Given the description of an element on the screen output the (x, y) to click on. 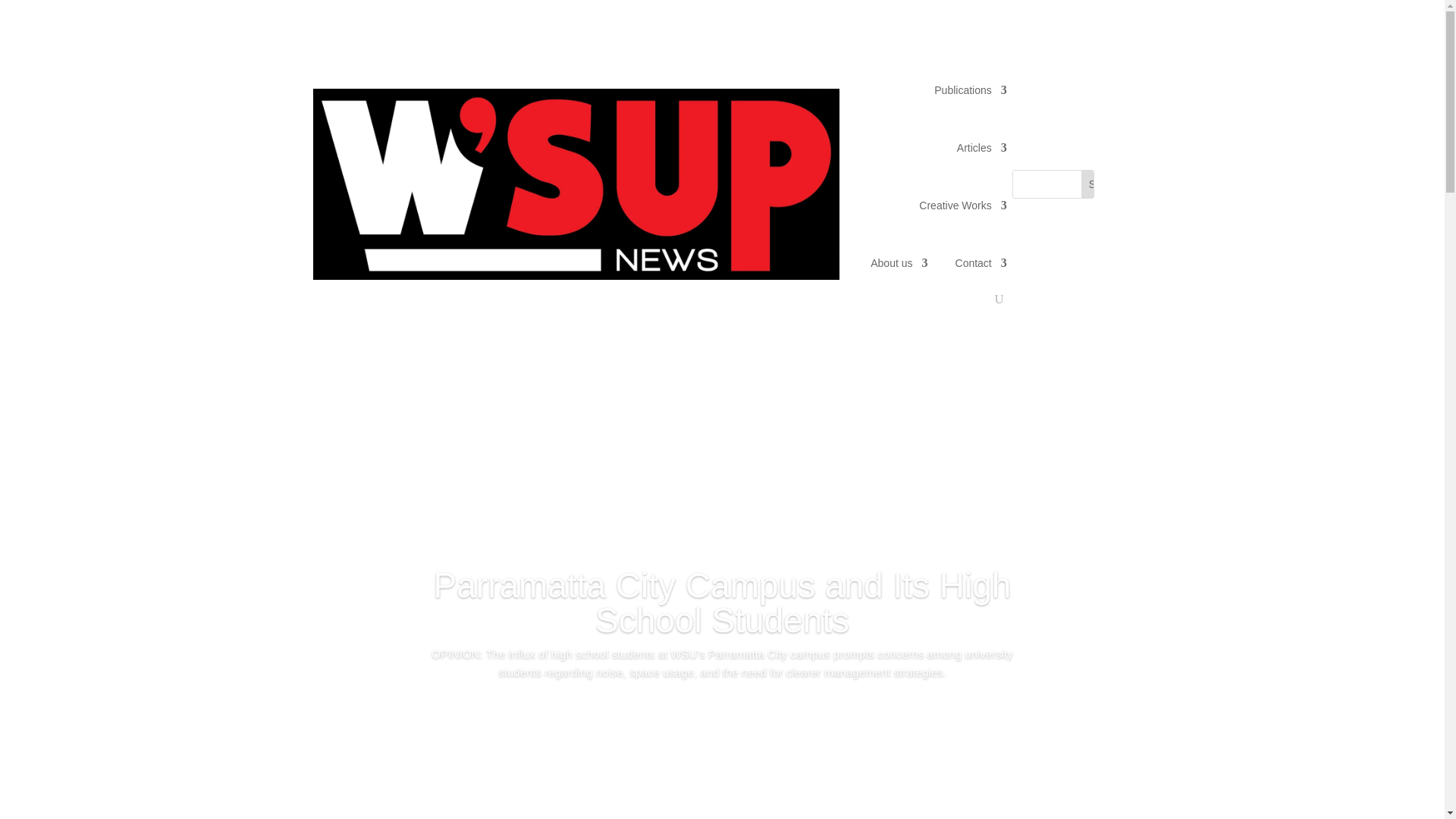
Read More (722, 714)
Search (1105, 184)
Follow on Facebook (1112, 147)
Publications (970, 89)
About us (898, 262)
Search (1105, 184)
Follow on Instagram (1118, 220)
Follow on Youtube (1112, 196)
Follow on X (1112, 171)
Parramatta City Campus and Its High School Students (722, 602)
Creative Works (962, 205)
Contact (981, 262)
Search (1105, 184)
